Given the description of an element on the screen output the (x, y) to click on. 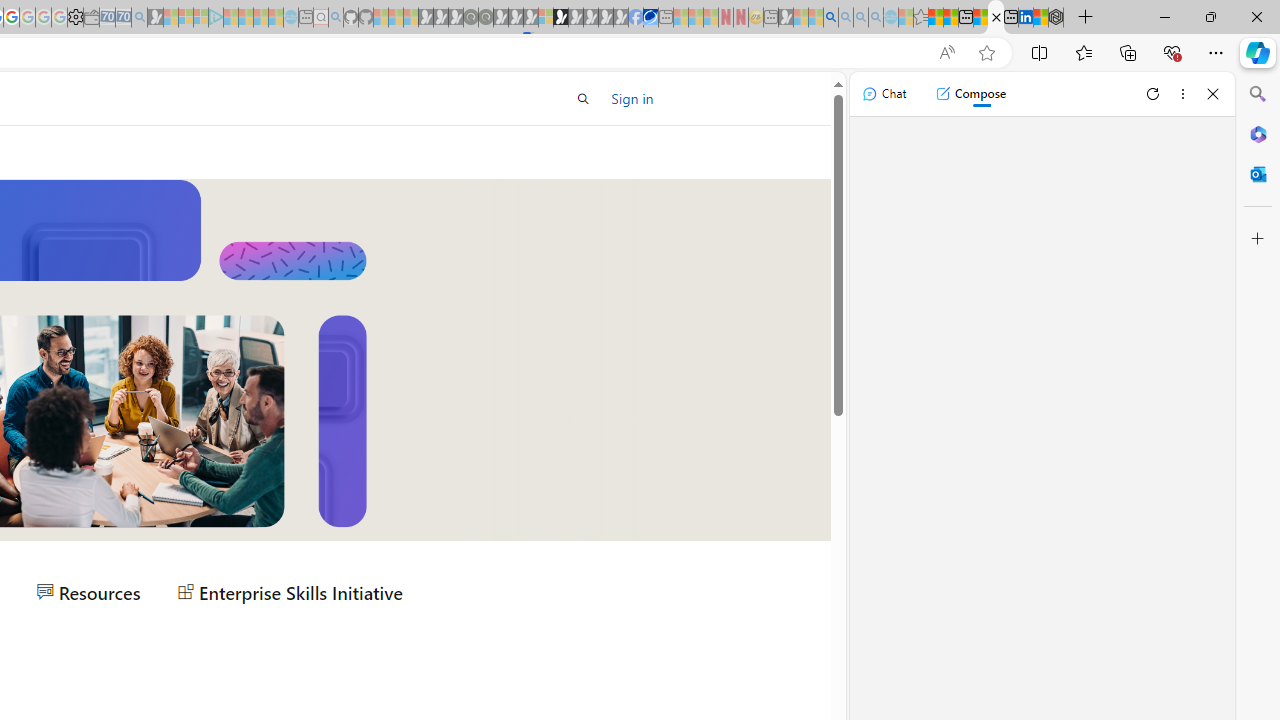
Nordace - Summer Adventures 2024 (1055, 17)
Close Customize pane (1258, 239)
Wallet - Sleeping (91, 17)
